Given the description of an element on the screen output the (x, y) to click on. 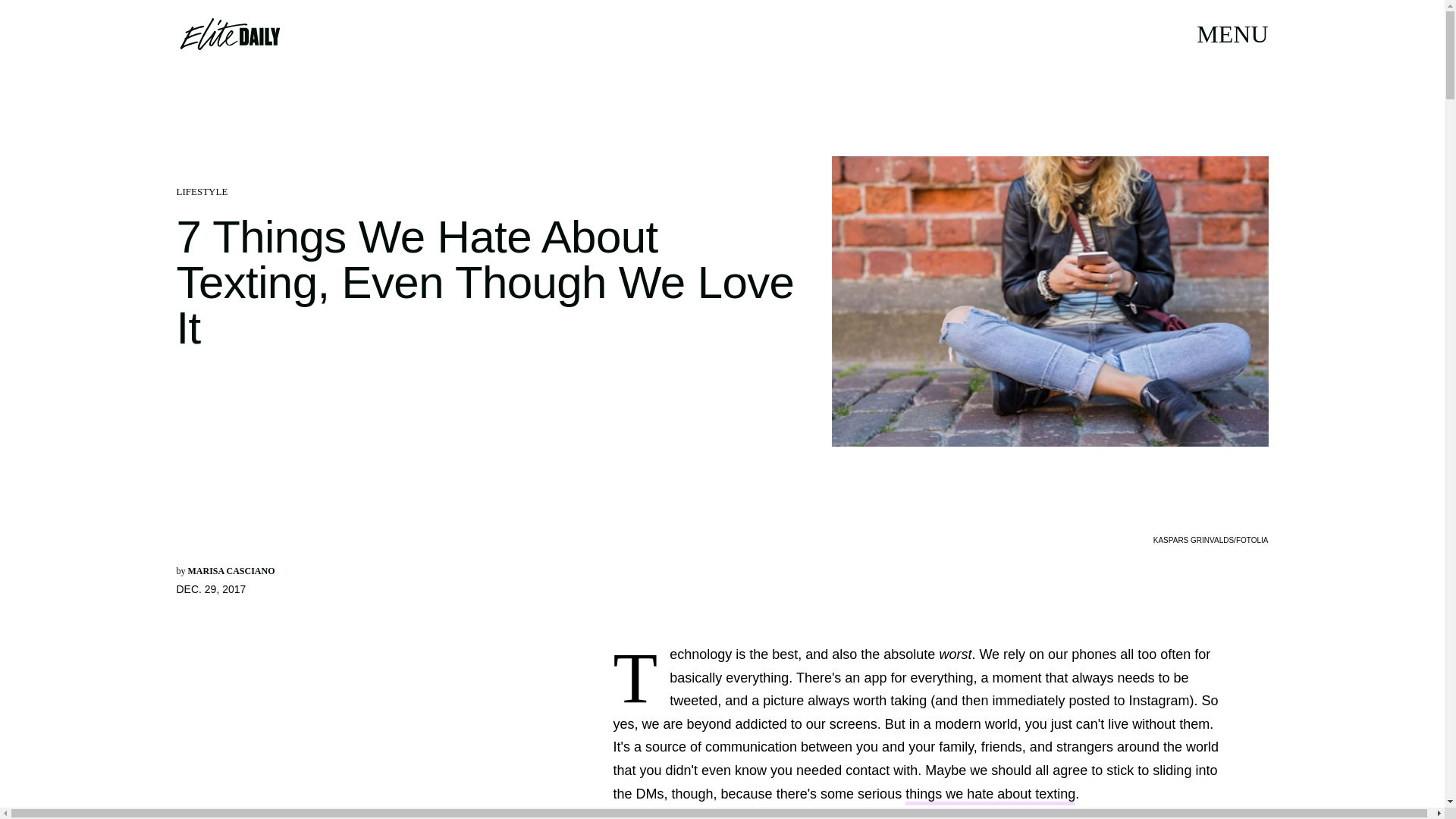
things we hate about texting (990, 795)
MARISA CASCIANO (231, 570)
Elite Daily (229, 33)
